Given the description of an element on the screen output the (x, y) to click on. 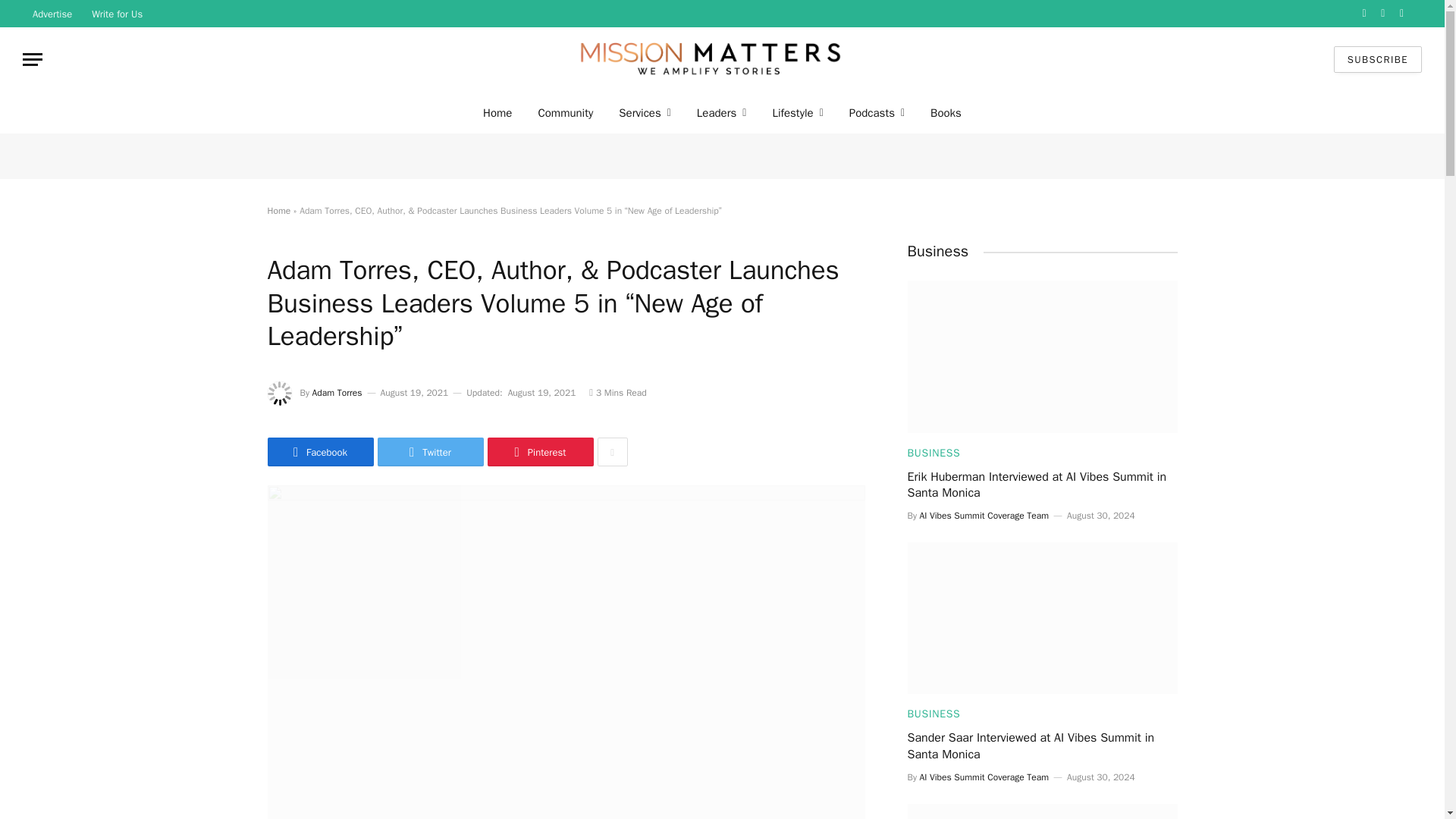
Home (497, 112)
Posts by Adam Torres (337, 392)
Write for Us (116, 13)
Leaders (722, 112)
Share on Facebook (319, 451)
Lifestyle (796, 112)
Share on Pinterest (539, 451)
SUBSCRIBE (1377, 58)
Community (564, 112)
Services (644, 112)
